Given the description of an element on the screen output the (x, y) to click on. 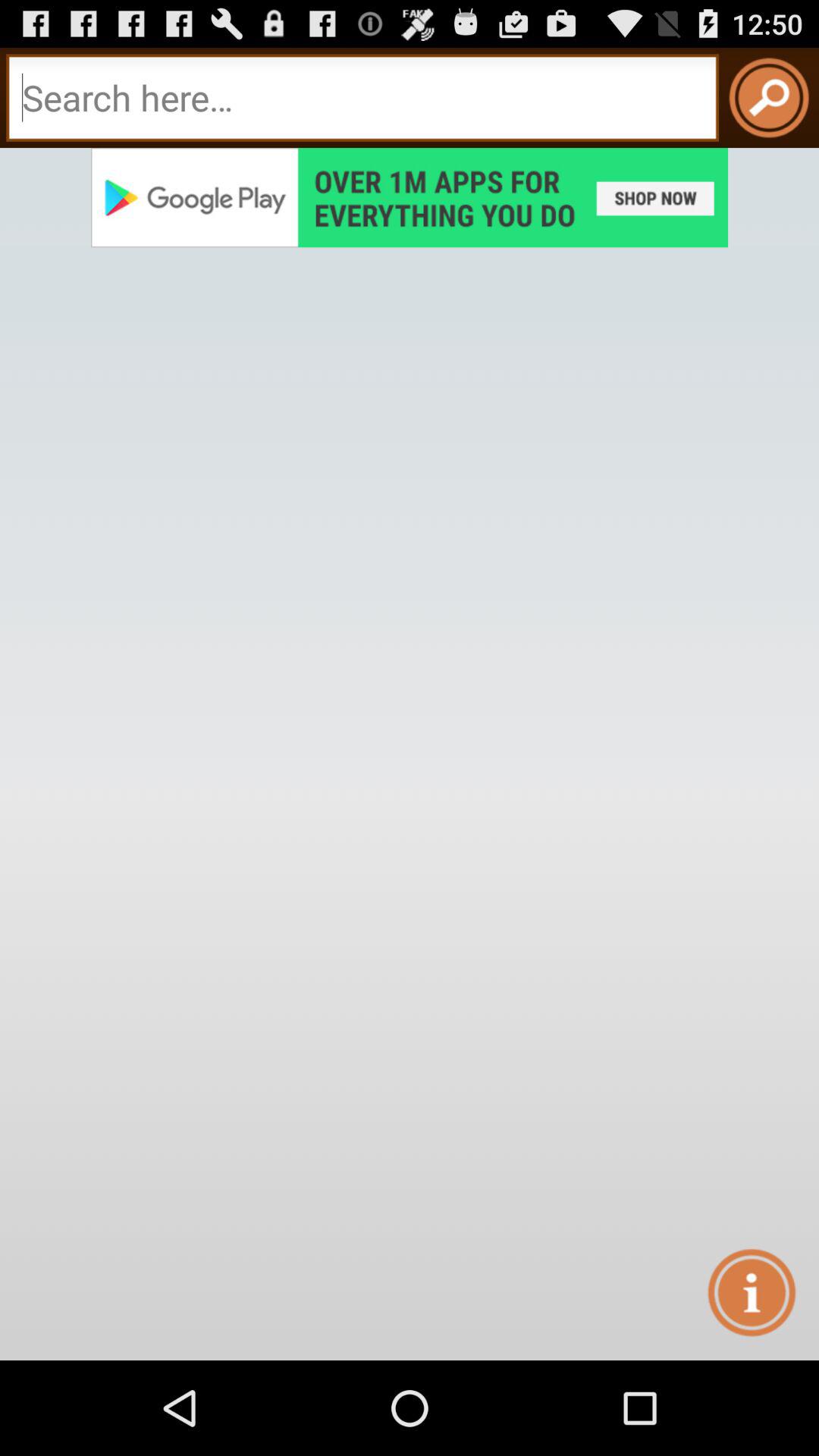
type in the search bar (362, 97)
